Given the description of an element on the screen output the (x, y) to click on. 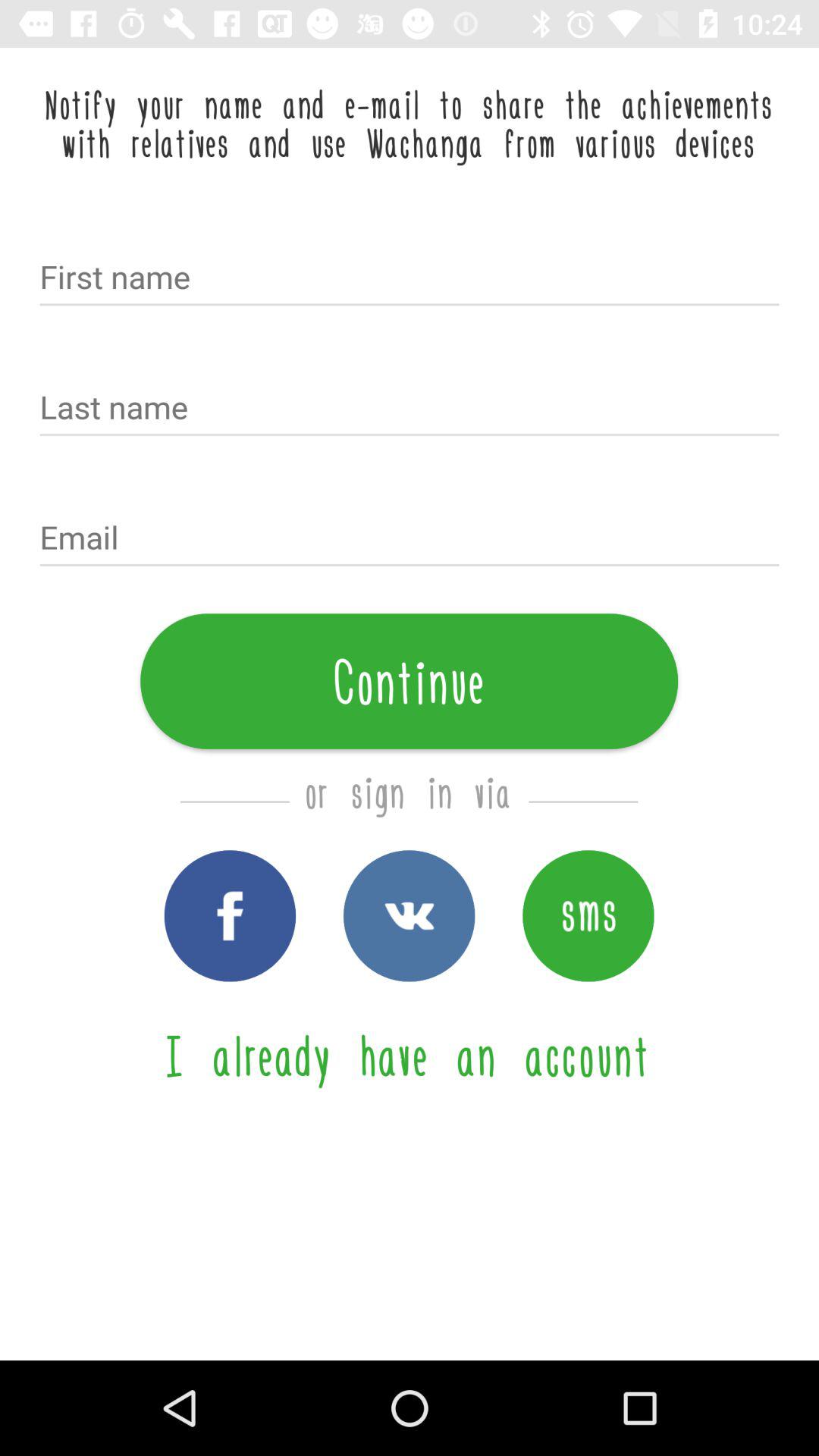
turn on the item below the notify your name icon (409, 278)
